Given the description of an element on the screen output the (x, y) to click on. 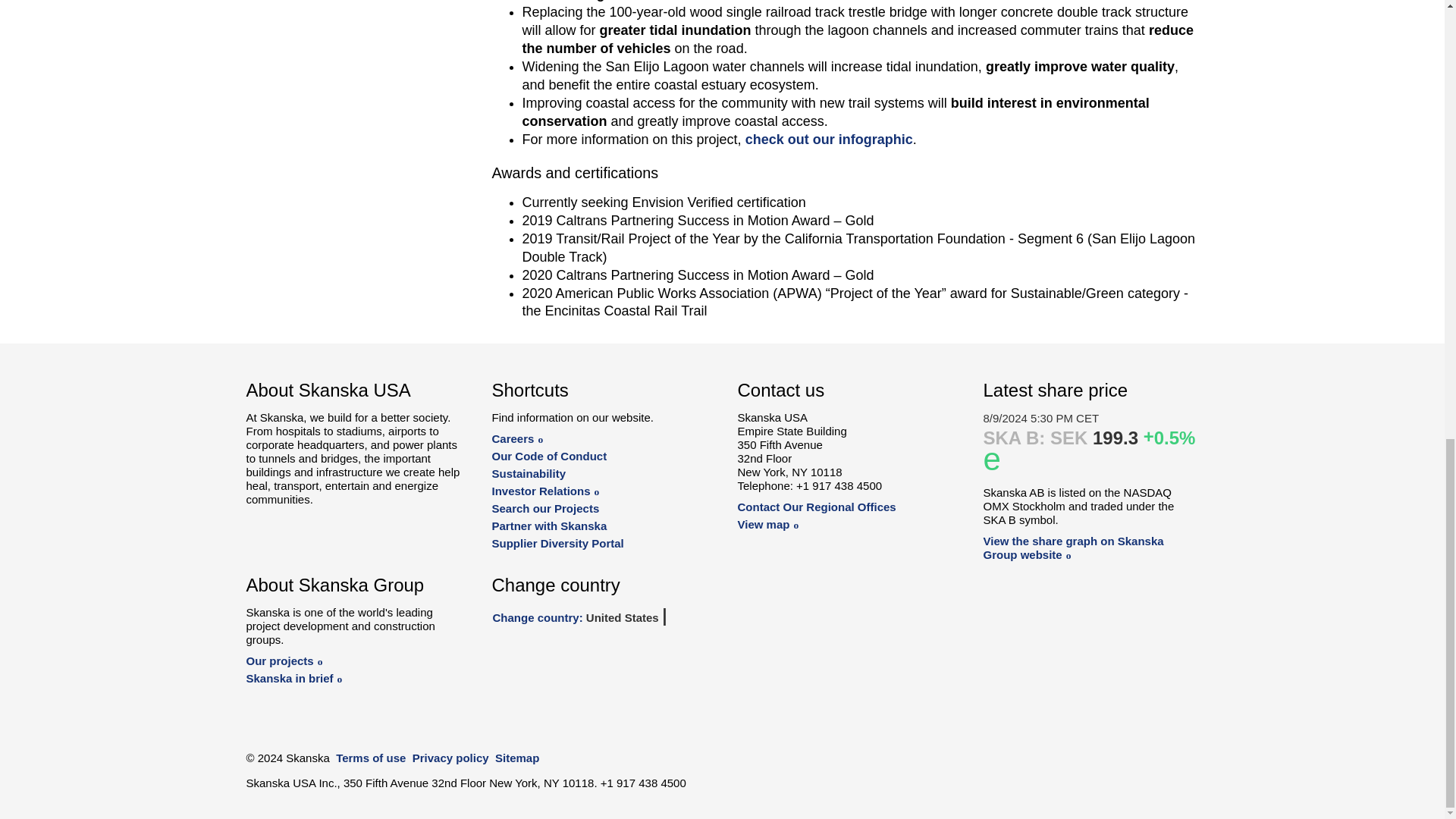
Change country (599, 617)
Latest share price (1072, 547)
View map in Google maps (766, 523)
